Given the description of an element on the screen output the (x, y) to click on. 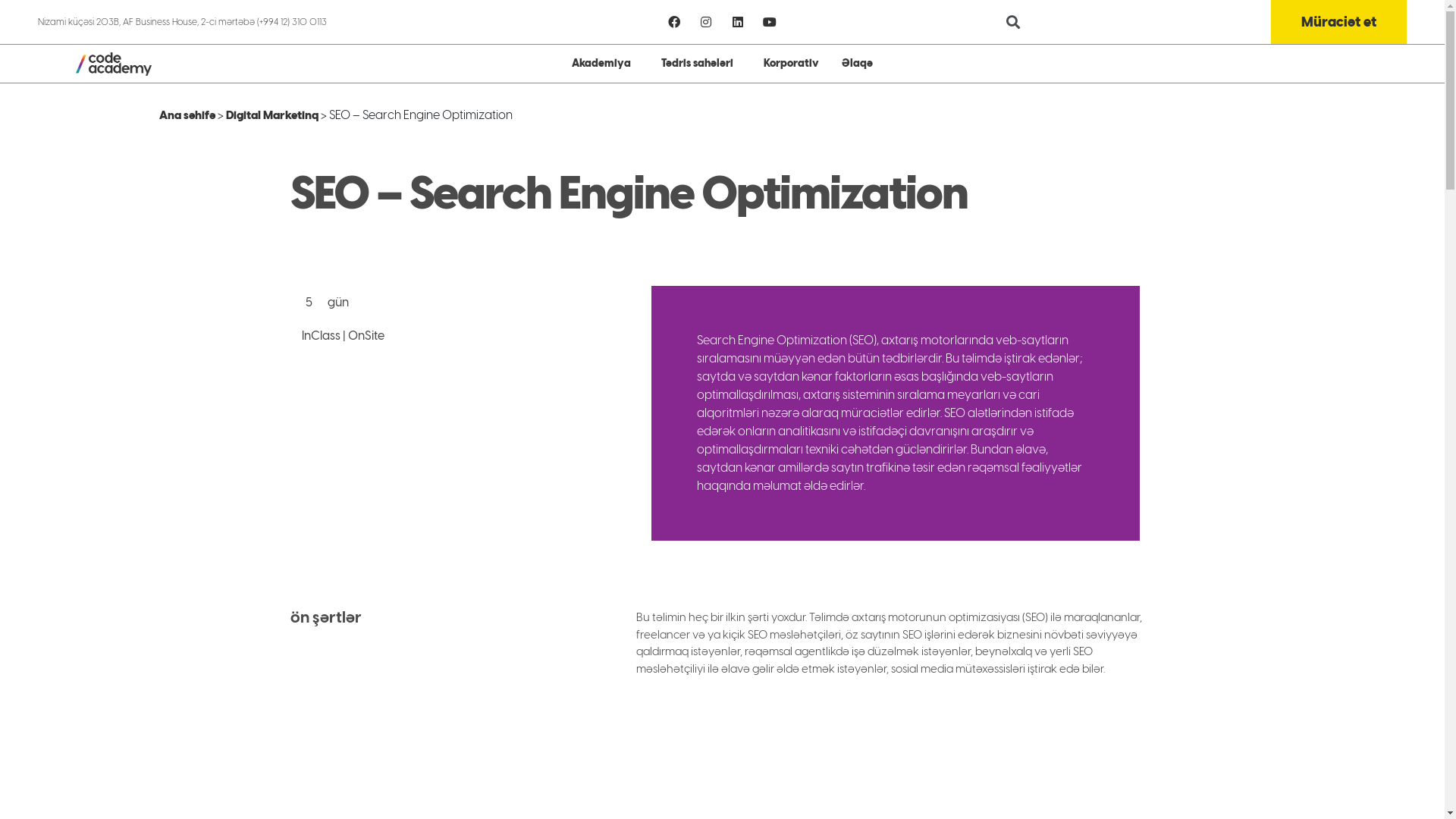
Digital Marketinq Element type: text (271, 115)
Akademiya Element type: text (604, 63)
Korporativ Element type: text (791, 63)
